Given the description of an element on the screen output the (x, y) to click on. 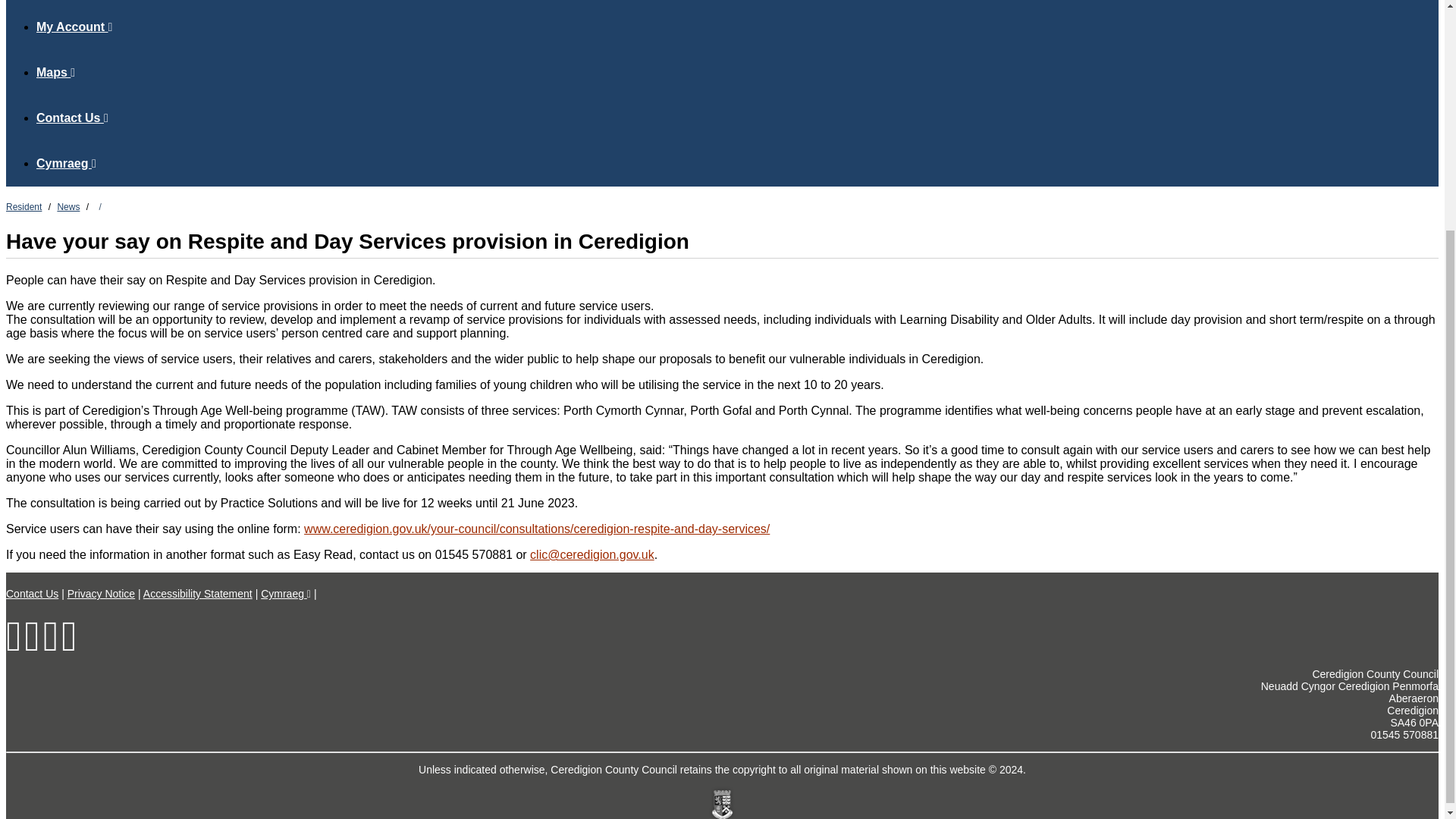
Instagram (50, 646)
Resident (23, 206)
YouTube (69, 646)
Instagram (50, 646)
Facebook (13, 646)
My Account (74, 26)
YouTube (69, 646)
News (68, 206)
Ceredigion Respite and Day Services (537, 528)
Contact Us (71, 117)
